Given the description of an element on the screen output the (x, y) to click on. 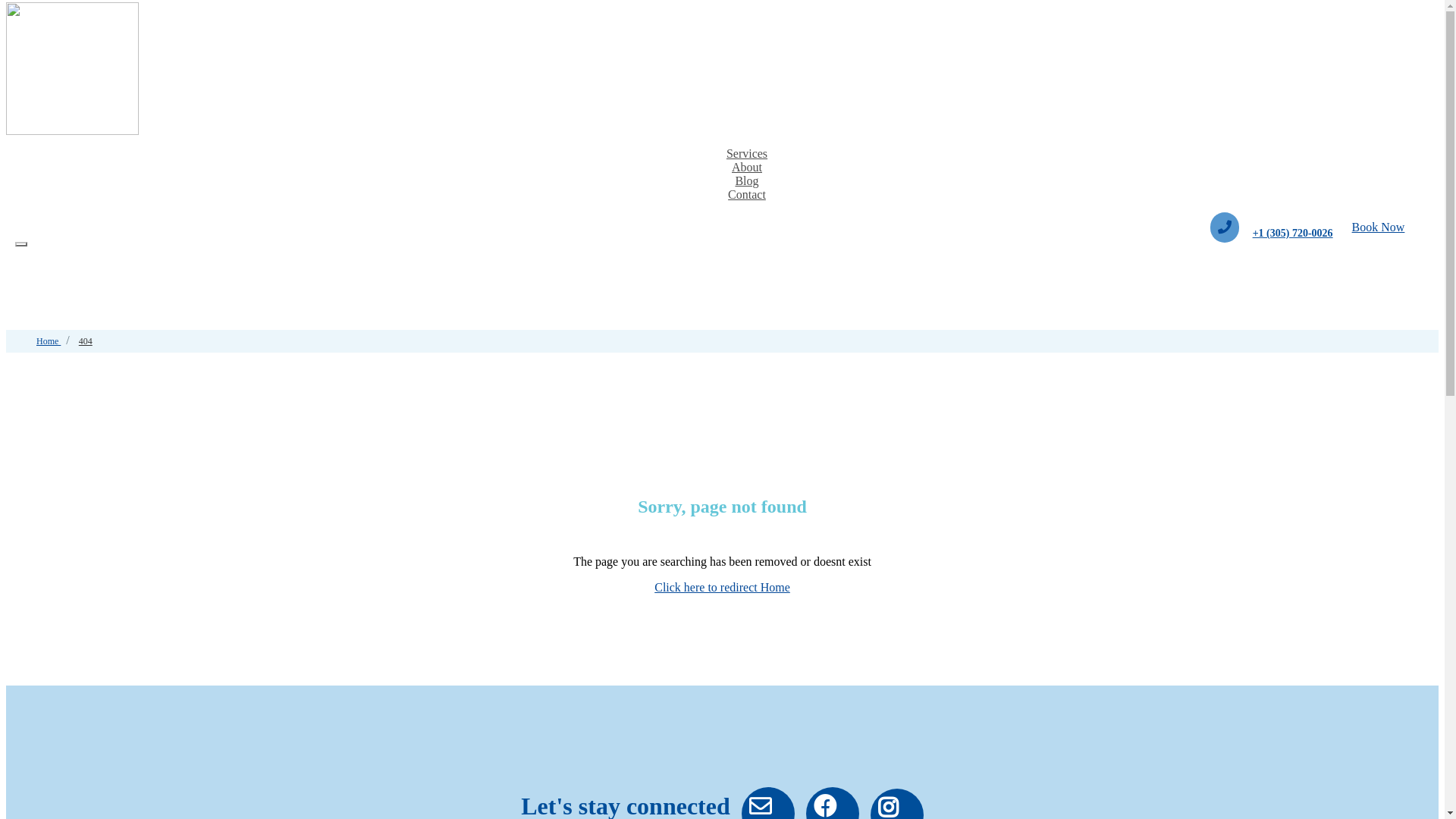
404 Element type: text (85, 340)
Home Element type: text (48, 340)
Click here to redirect Home Element type: text (722, 586)
Blog Element type: text (746, 184)
+1 (305) 720-0026 Element type: text (1292, 232)
Book Now Element type: text (1378, 226)
About Element type: text (746, 170)
Contact Element type: text (746, 197)
Services Element type: text (746, 156)
